Given the description of an element on the screen output the (x, y) to click on. 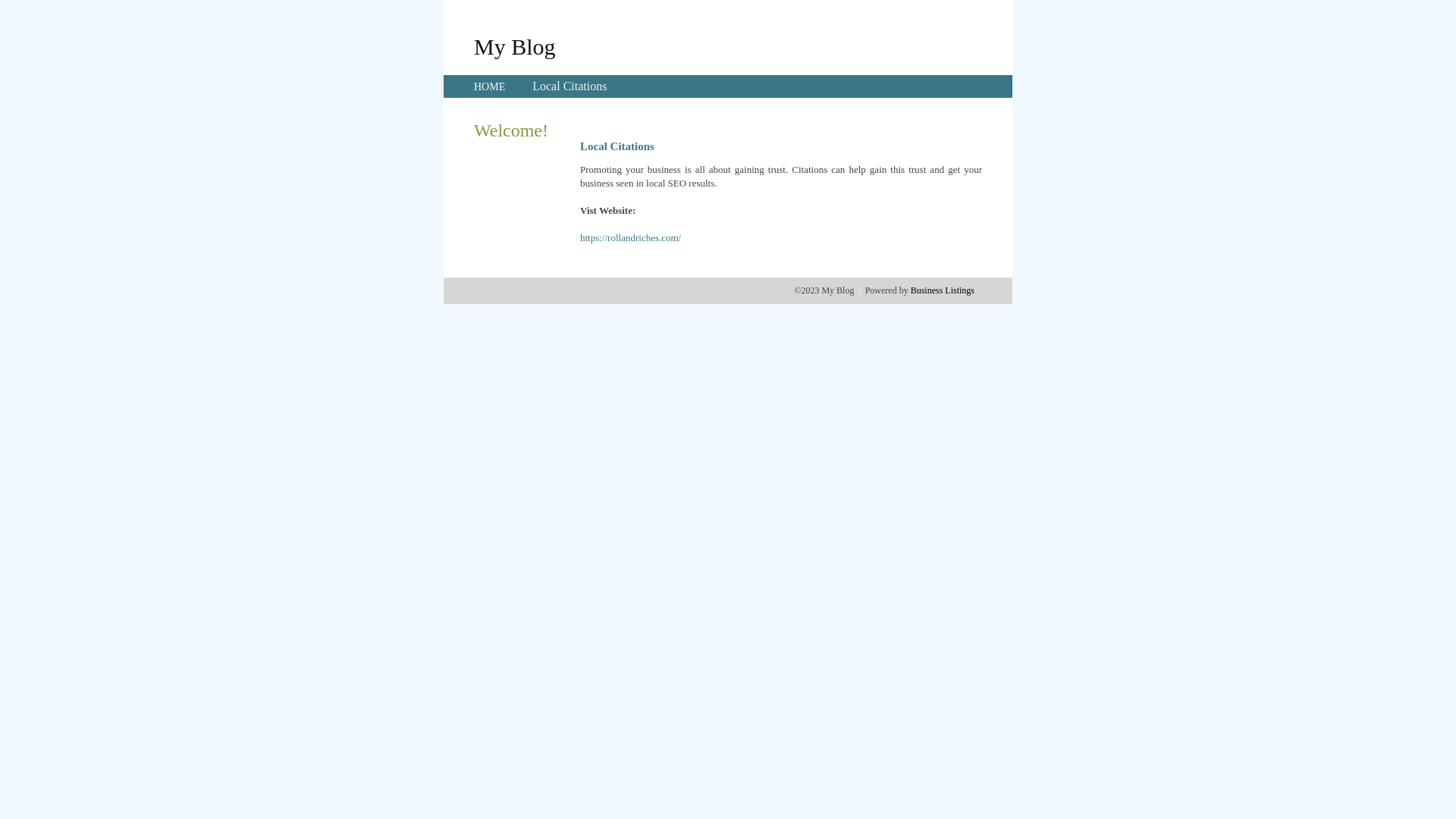
Business Listings Element type: text (942, 290)
My Blog Element type: text (514, 46)
HOME Element type: text (489, 86)
https://rollandriches.com/ Element type: text (630, 237)
Local Citations Element type: text (569, 85)
